Given the description of an element on the screen output the (x, y) to click on. 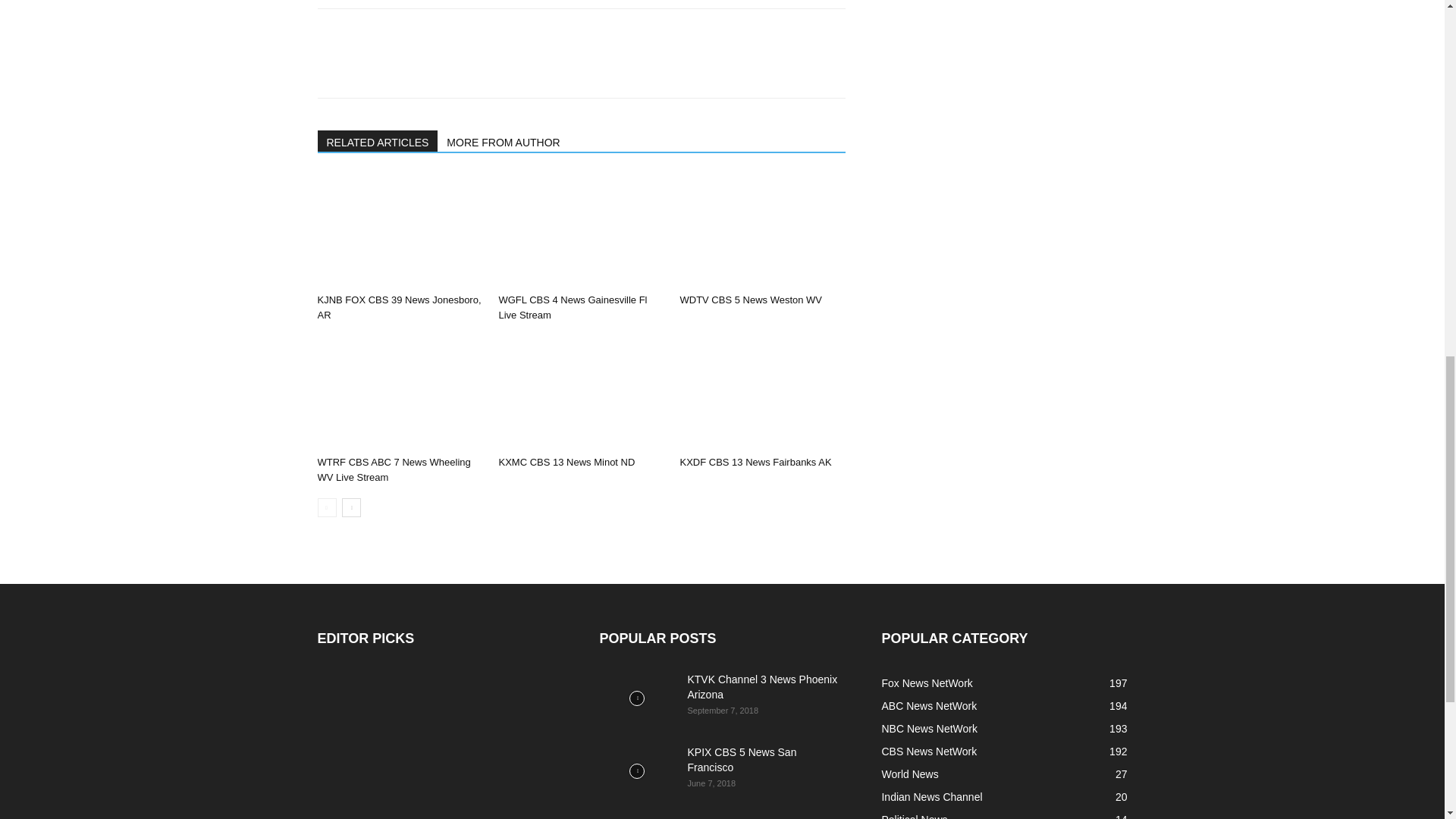
MORE FROM AUTHOR (503, 140)
KJNB FOX CBS 39 News Jonesboro, AR (399, 230)
RELATED ARTICLES (377, 140)
KJNB FOX CBS 39 News Jonesboro, AR (398, 307)
